Given the description of an element on the screen output the (x, y) to click on. 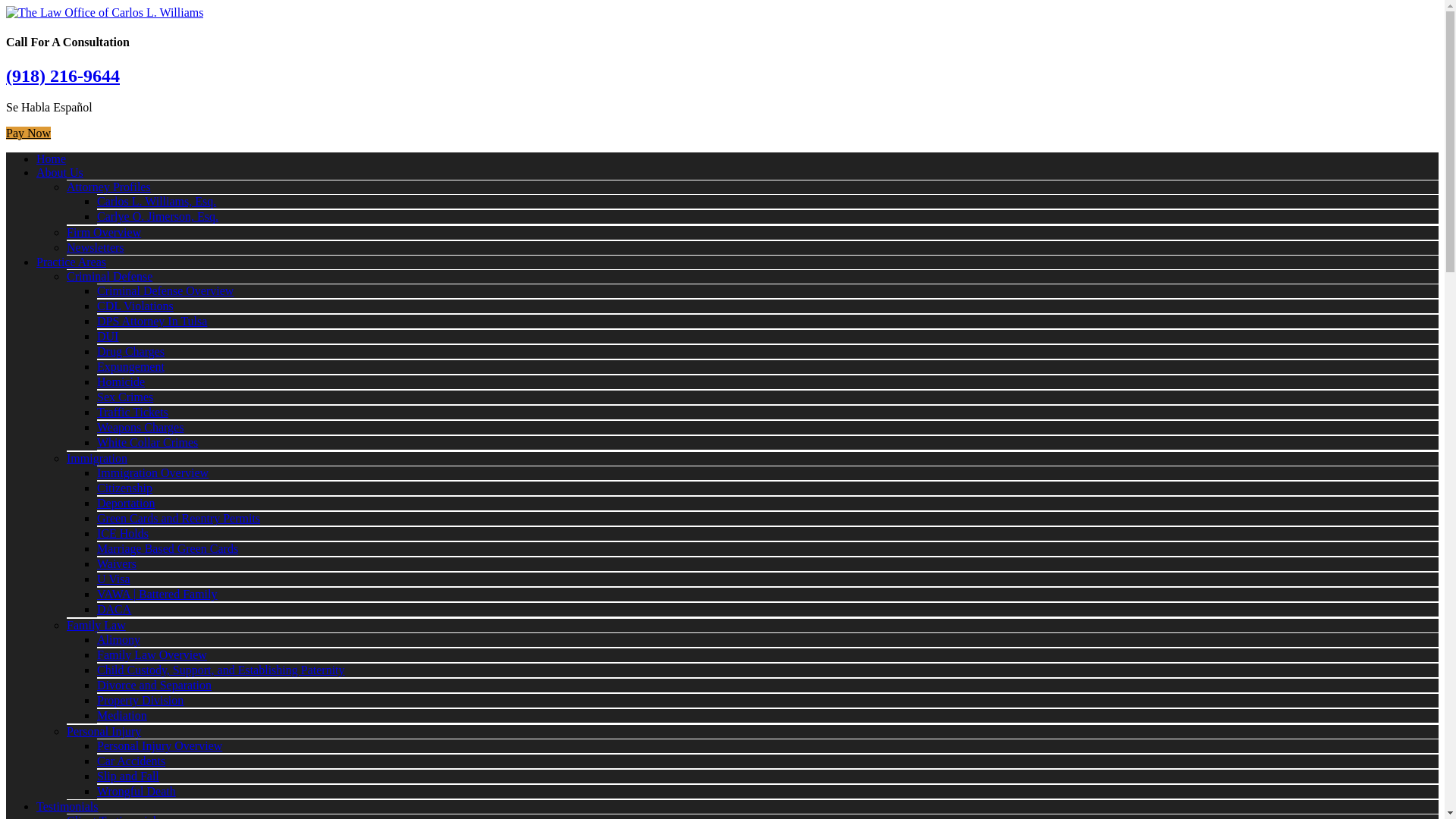
Deportation (125, 502)
DACA (114, 608)
Marriage Based Green Cards (167, 548)
Waivers (116, 563)
Firm Overview (103, 232)
Attorney Profiles (108, 186)
Child Custody, Support, and Establishing Paternity (221, 669)
Sex Crimes (124, 396)
Carlos L. Williams, Esq. (156, 201)
Traffic Tickets (132, 411)
Immigration Overview (152, 472)
Practice Areas (71, 261)
Criminal Defense Overview (164, 290)
Family Law Overview (151, 654)
Weapons Charges (140, 427)
